Given the description of an element on the screen output the (x, y) to click on. 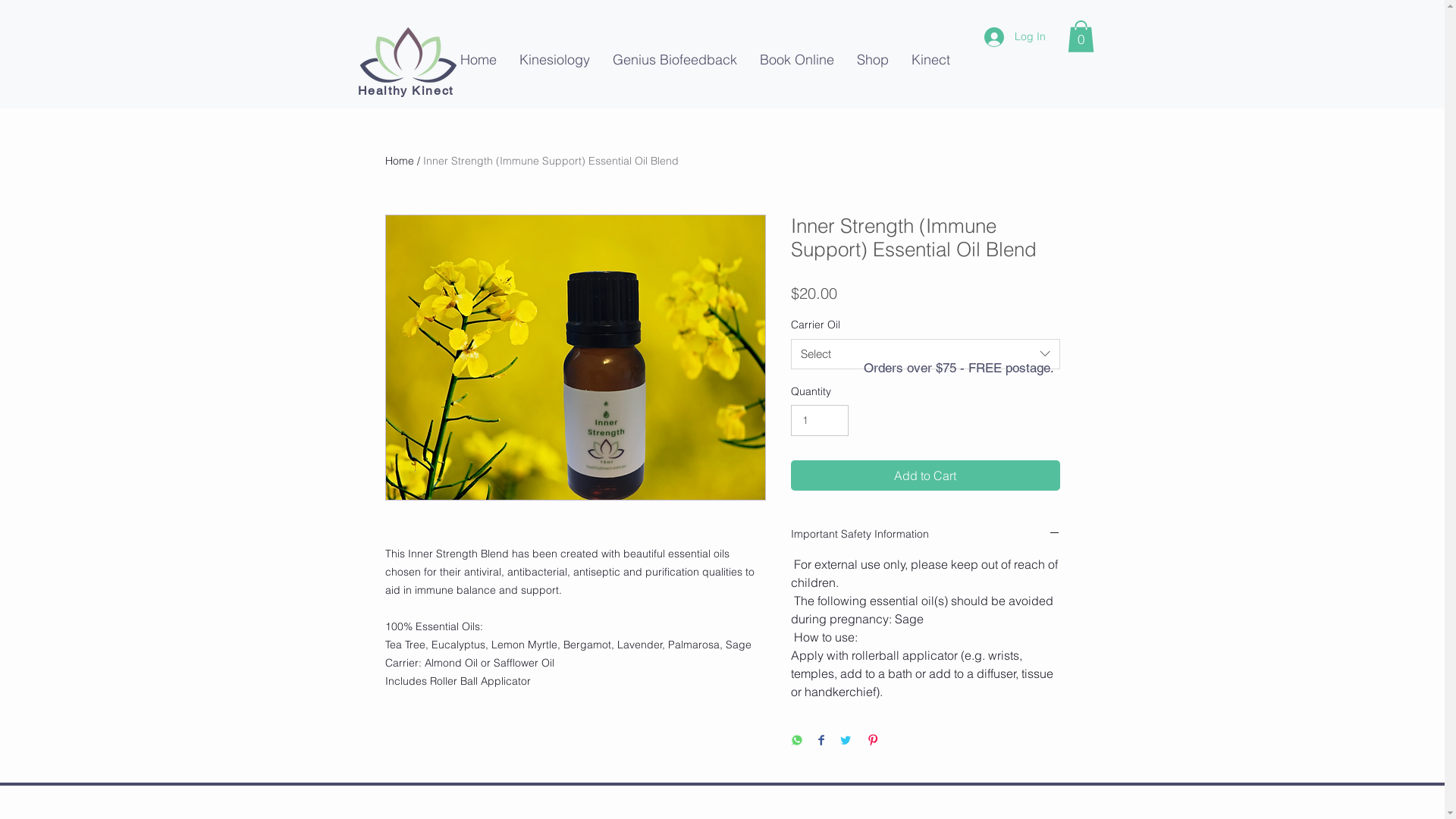
Add to Cart Element type: text (924, 475)
Home Element type: text (478, 59)
Book Online Element type: text (795, 59)
Inner Strength (Immune Support) Essential Oil Blend Element type: text (550, 160)
Shop Element type: text (871, 59)
Select Element type: text (924, 353)
Log In Element type: text (1014, 36)
Home Element type: text (399, 160)
Important Safety Information Element type: text (924, 534)
Kinect Element type: text (929, 59)
0 Element type: text (1080, 36)
